Given the description of an element on the screen output the (x, y) to click on. 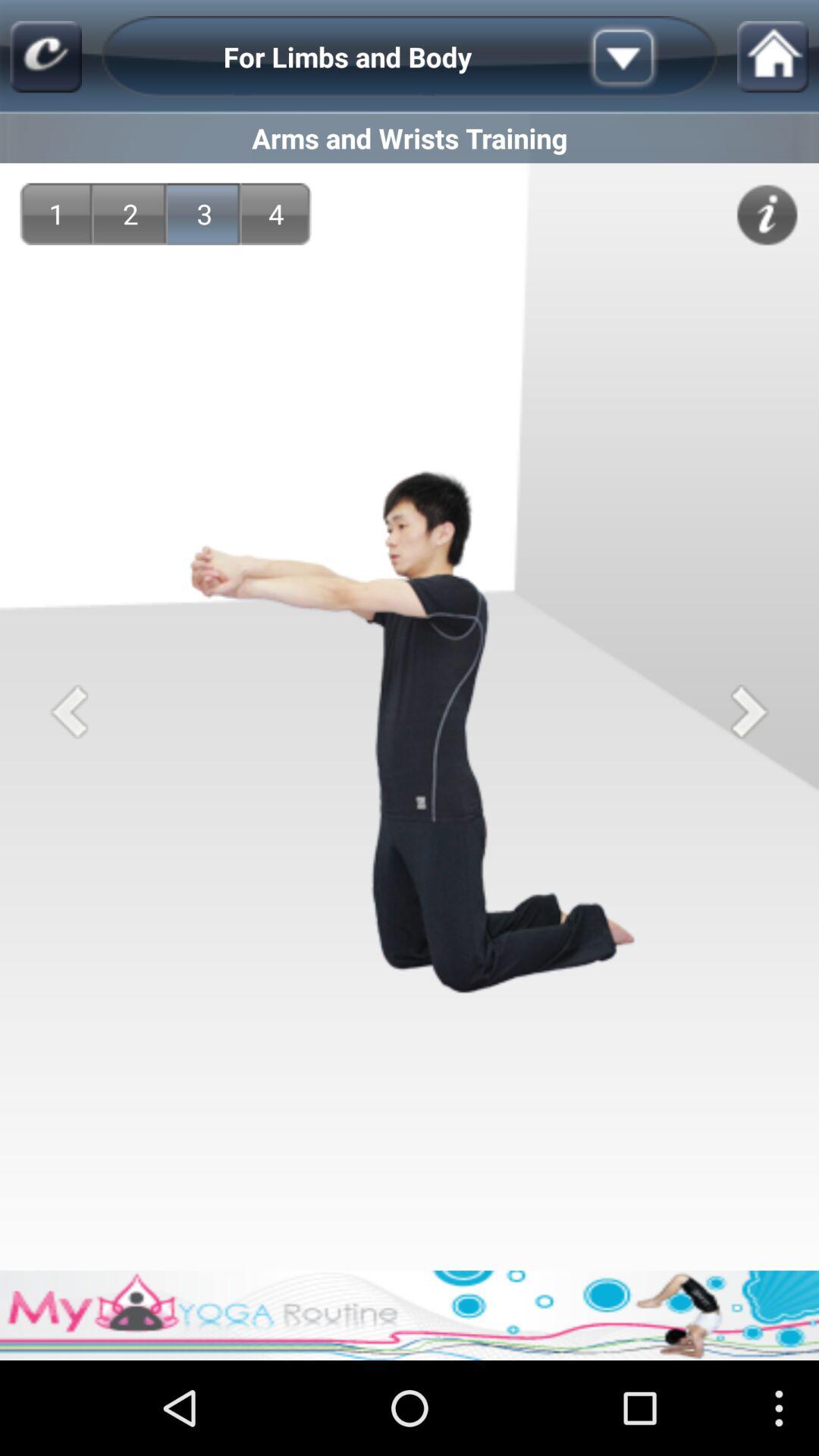
open icon below the arms and wrists app (767, 214)
